Given the description of an element on the screen output the (x, y) to click on. 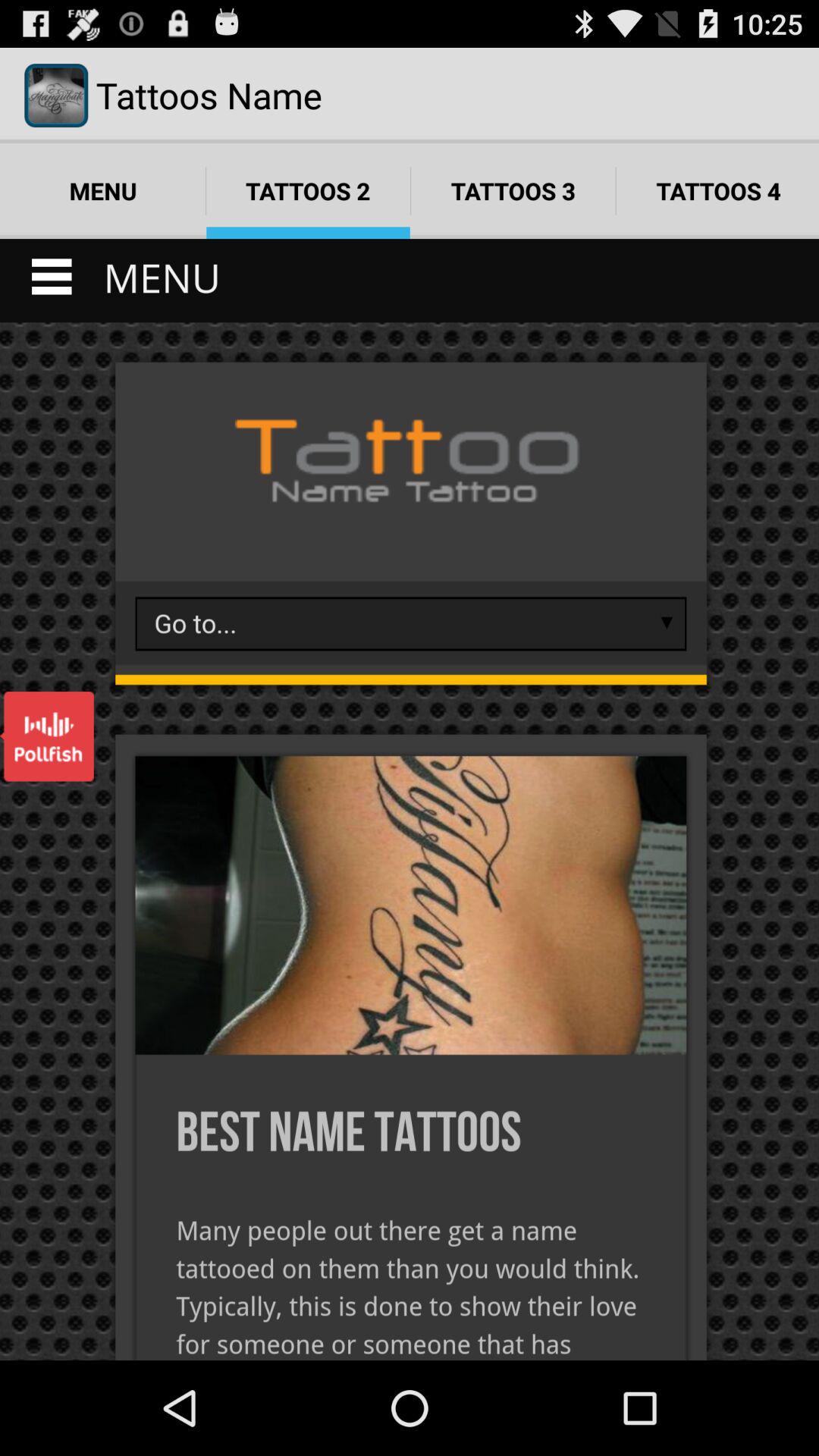
open pollfish (46, 736)
